Given the description of an element on the screen output the (x, y) to click on. 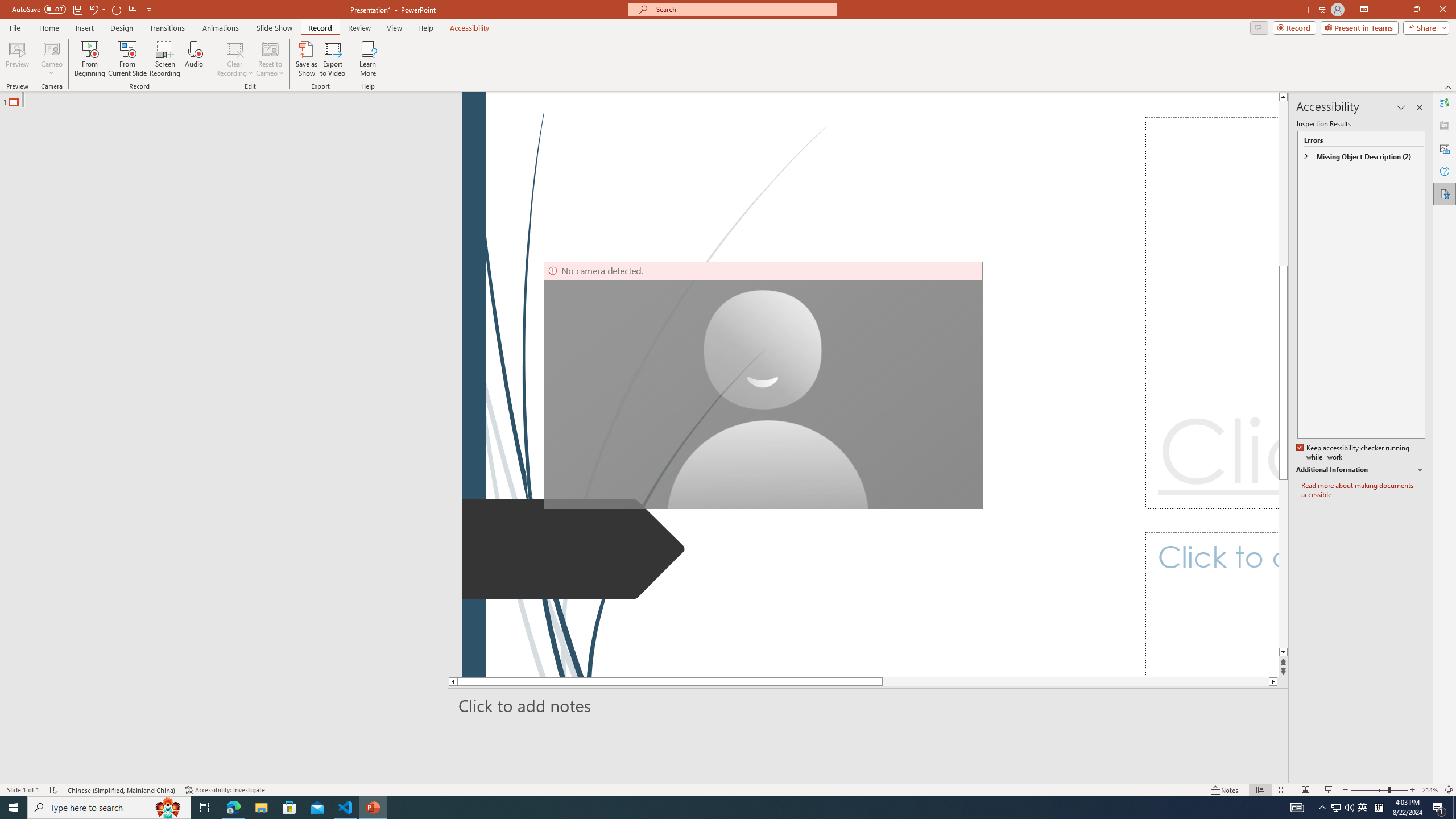
Zoom 214% (1430, 790)
